Given the description of an element on the screen output the (x, y) to click on. 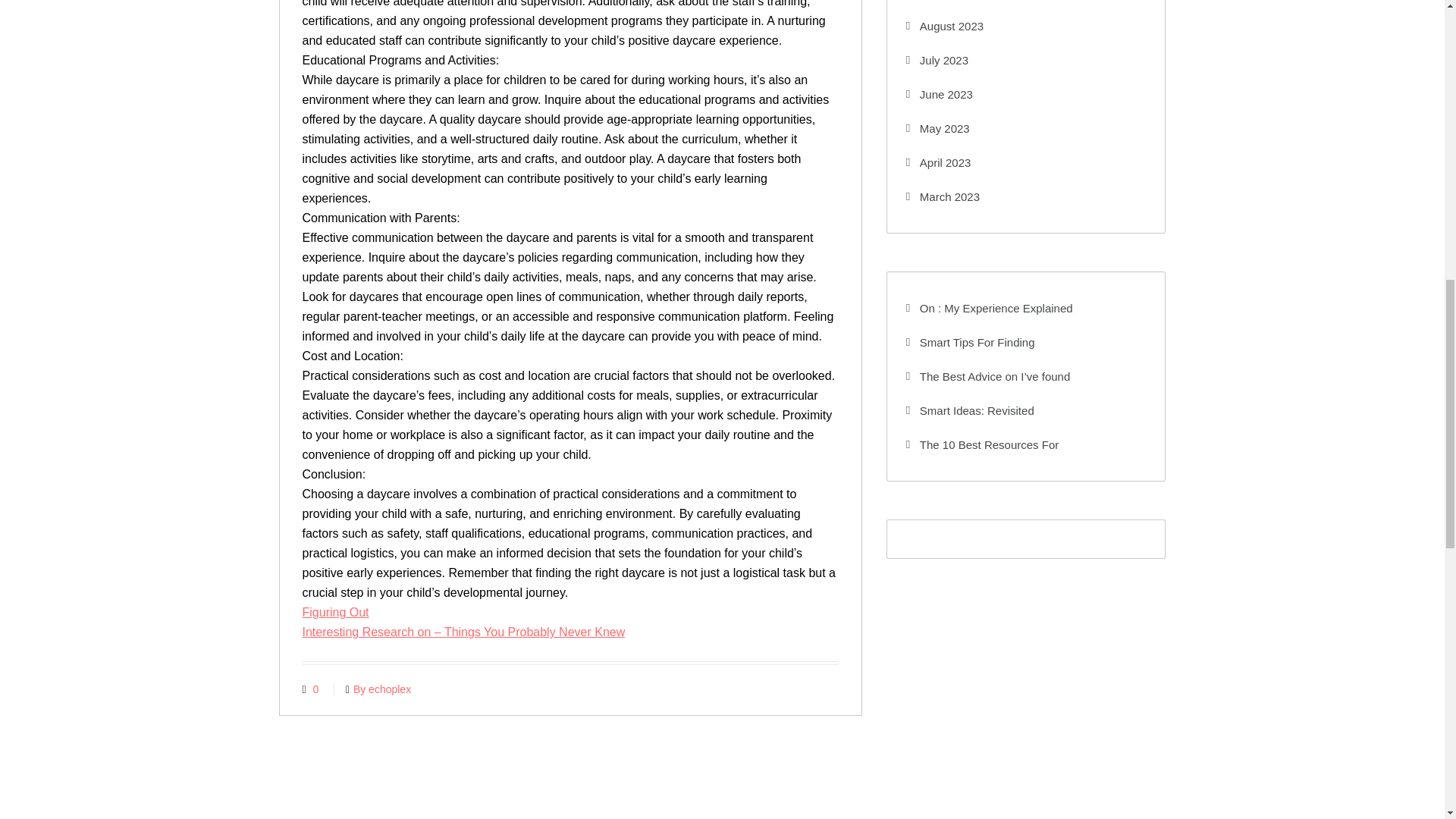
May 2023 (937, 128)
July 2023 (936, 59)
June 2023 (938, 93)
March 2023 (942, 196)
On : My Experience Explained (989, 308)
Figuring Out (334, 612)
By echoplex (377, 689)
September 2023 (954, 4)
April 2023 (938, 162)
August 2023 (944, 26)
